Given the description of an element on the screen output the (x, y) to click on. 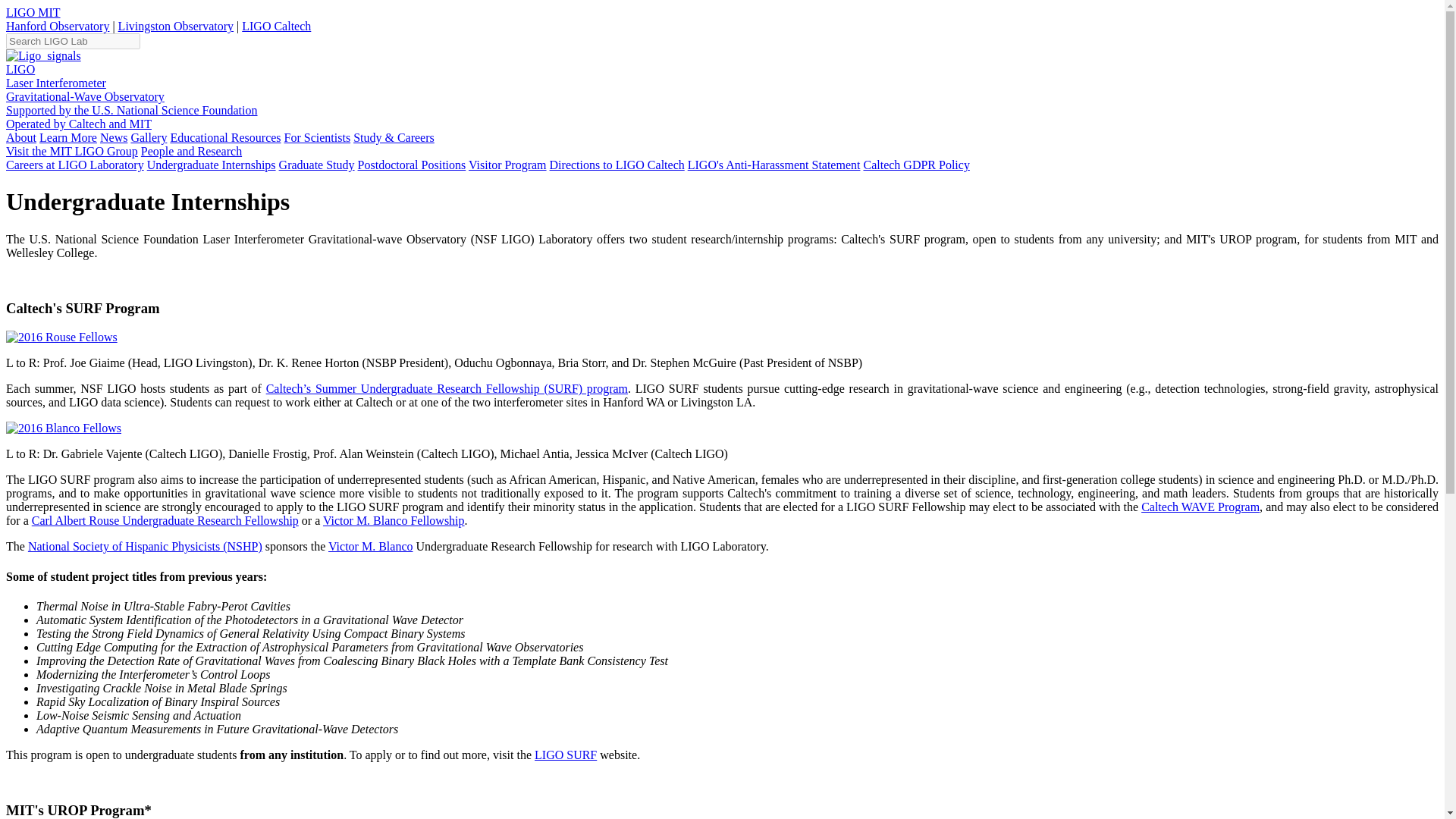
A Wikipedia article about Victor Blanco (370, 545)
2016 Rouse Fellows (61, 336)
Postdoctoral Positions (411, 164)
For Scientists (316, 137)
Educational Resources (225, 137)
Caltech GDPR Policy (916, 164)
Hanford Observatory (57, 25)
Visitor Program (507, 164)
National Society of Hispanic Physicists website (144, 545)
Undergraduate Internships (211, 164)
